Given the description of an element on the screen output the (x, y) to click on. 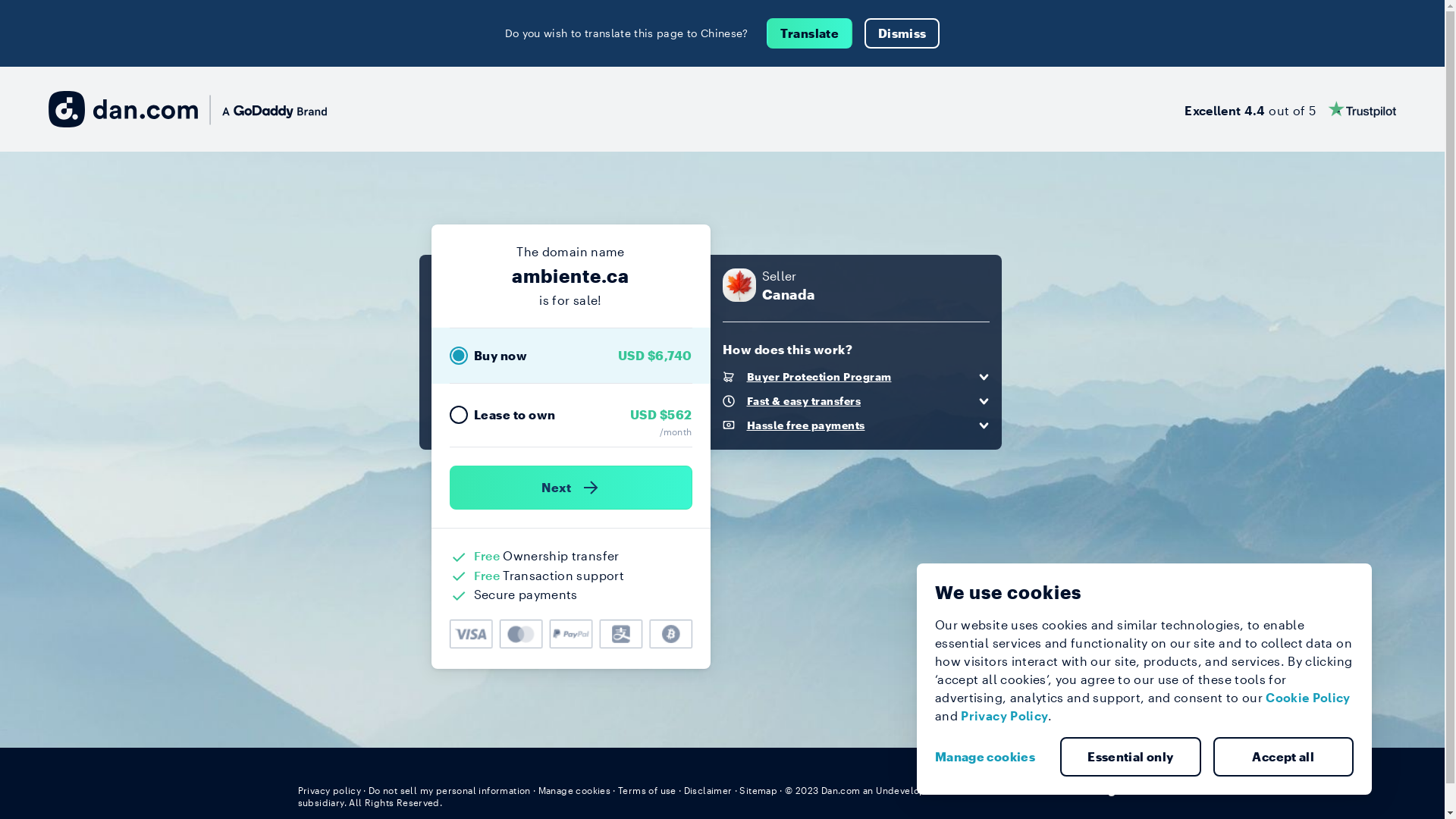
Disclaimer Element type: text (708, 789)
Manage cookies Element type: text (991, 756)
Cookie Policy Element type: text (1307, 697)
Translate Element type: text (809, 33)
Privacy Policy Element type: text (1004, 715)
Manage cookies Element type: text (574, 790)
Excellent 4.4 out of 5 Element type: text (1290, 109)
Accept all Element type: text (1283, 756)
Terms of use Element type: text (647, 789)
Sitemap Element type: text (758, 789)
English Element type: text (1119, 789)
Next
) Element type: text (569, 487)
Essential only Element type: text (1130, 756)
Dismiss Element type: text (901, 33)
Privacy policy Element type: text (328, 789)
Do not sell my personal information Element type: text (449, 789)
